Given the description of an element on the screen output the (x, y) to click on. 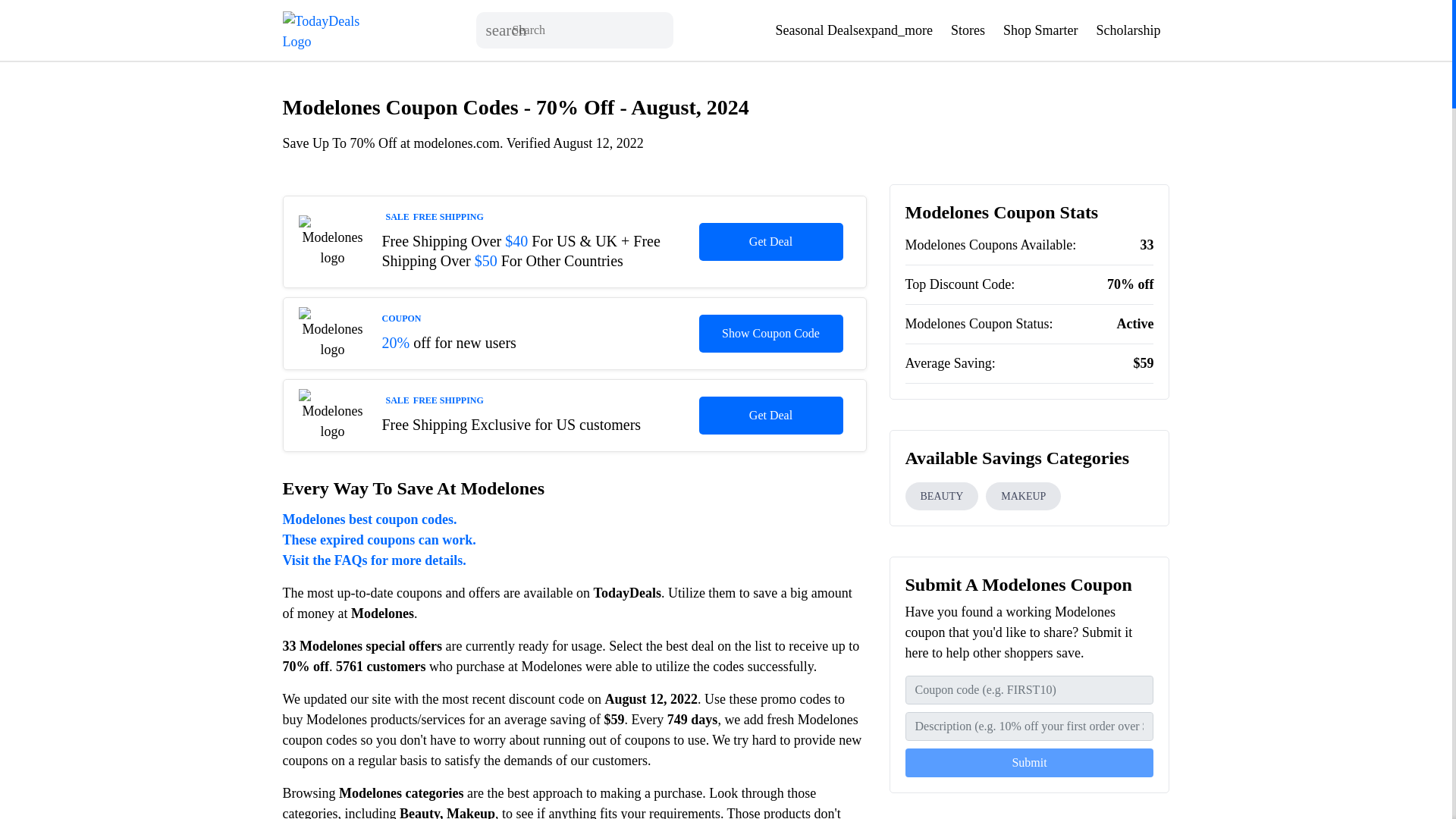
Stores (967, 29)
Scholarship (1128, 29)
Show Coupon Code (770, 333)
Visit the FAQs for more details. (574, 560)
search (506, 30)
Get Deal (770, 241)
Modelones best coupon codes. (574, 519)
Shop Smarter (1040, 29)
Get Deal (770, 415)
These expired coupons can work. (574, 539)
